Given the description of an element on the screen output the (x, y) to click on. 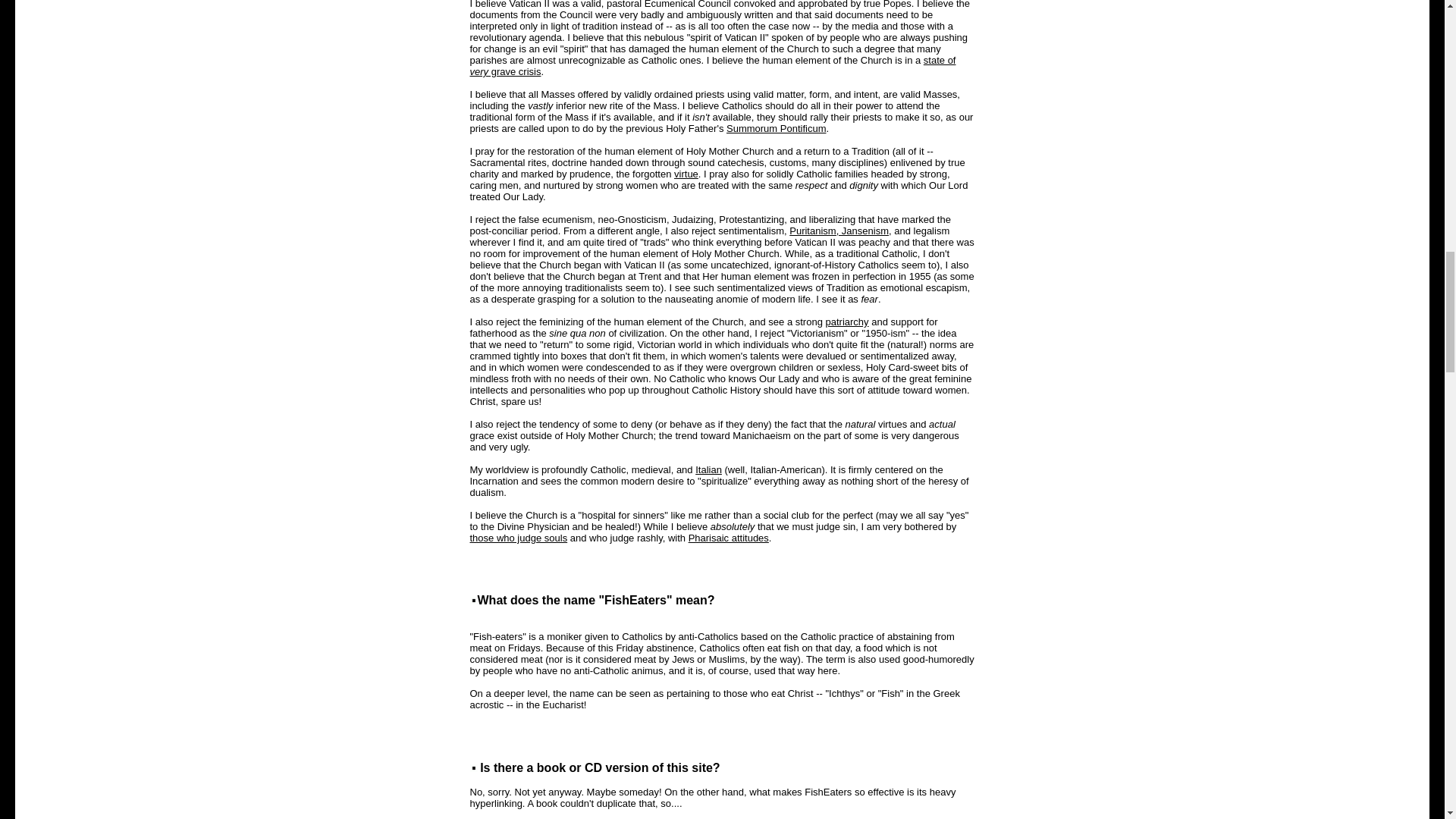
Pharisaic attitudes (728, 537)
Italian (708, 469)
virtue (686, 173)
Summorum Pontificum (775, 128)
Puritanism, Jansenism (838, 230)
those who judge souls (518, 537)
state of very grave crisis (713, 65)
patriarchy (846, 321)
